Given the description of an element on the screen output the (x, y) to click on. 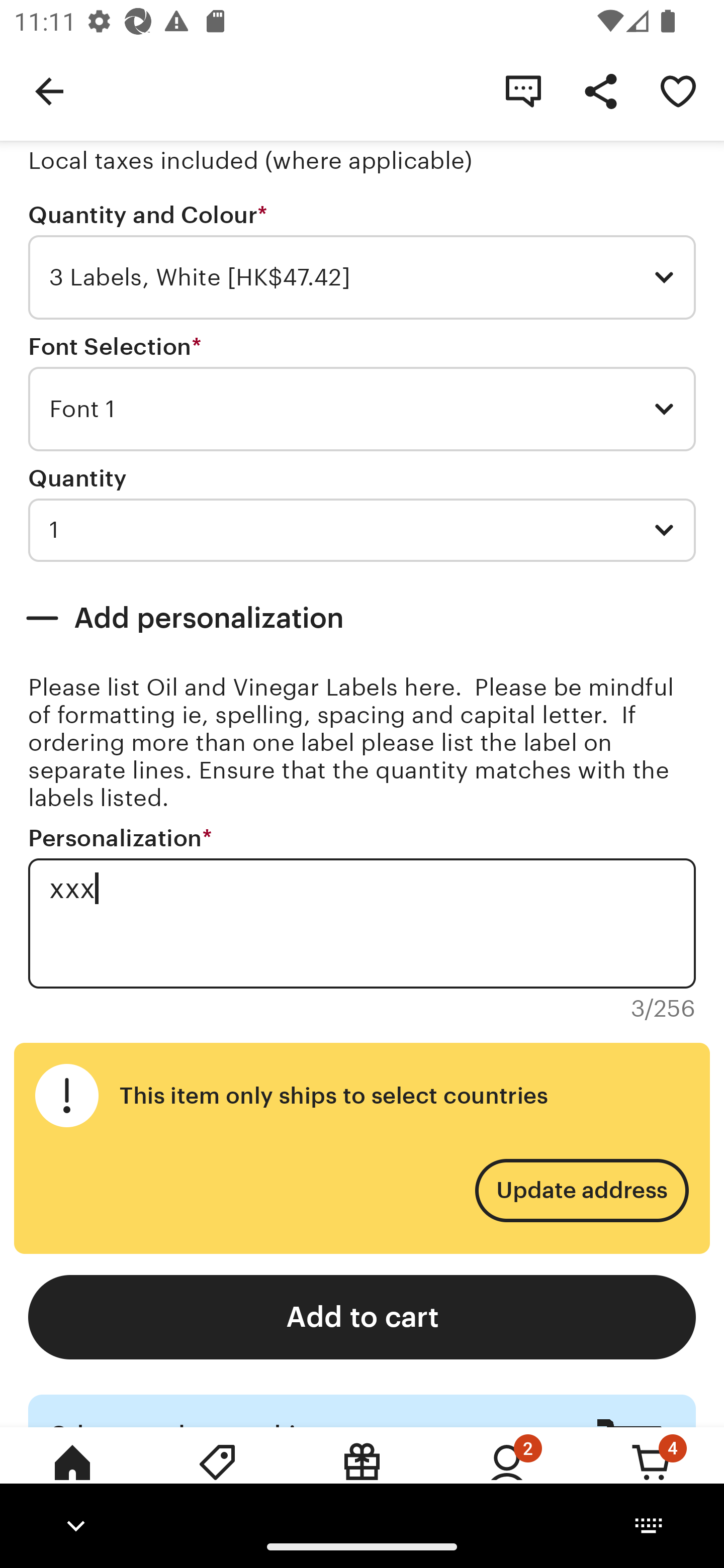
Navigate up (49, 90)
Contact shop (523, 90)
Share (600, 90)
3 Labels, White [HK$47.42] (361, 277)
Font Selection * Required Font 1 (361, 392)
Font 1 (361, 408)
Quantity (77, 477)
1 (361, 529)
Add personalization Add personalization Required (362, 617)
xxx (361, 922)
Update address (581, 1189)
Add to cart (361, 1316)
Deals (216, 1475)
Gift Mode (361, 1475)
You, 2 new notifications (506, 1475)
Cart, 4 new notifications (651, 1475)
